Given the description of an element on the screen output the (x, y) to click on. 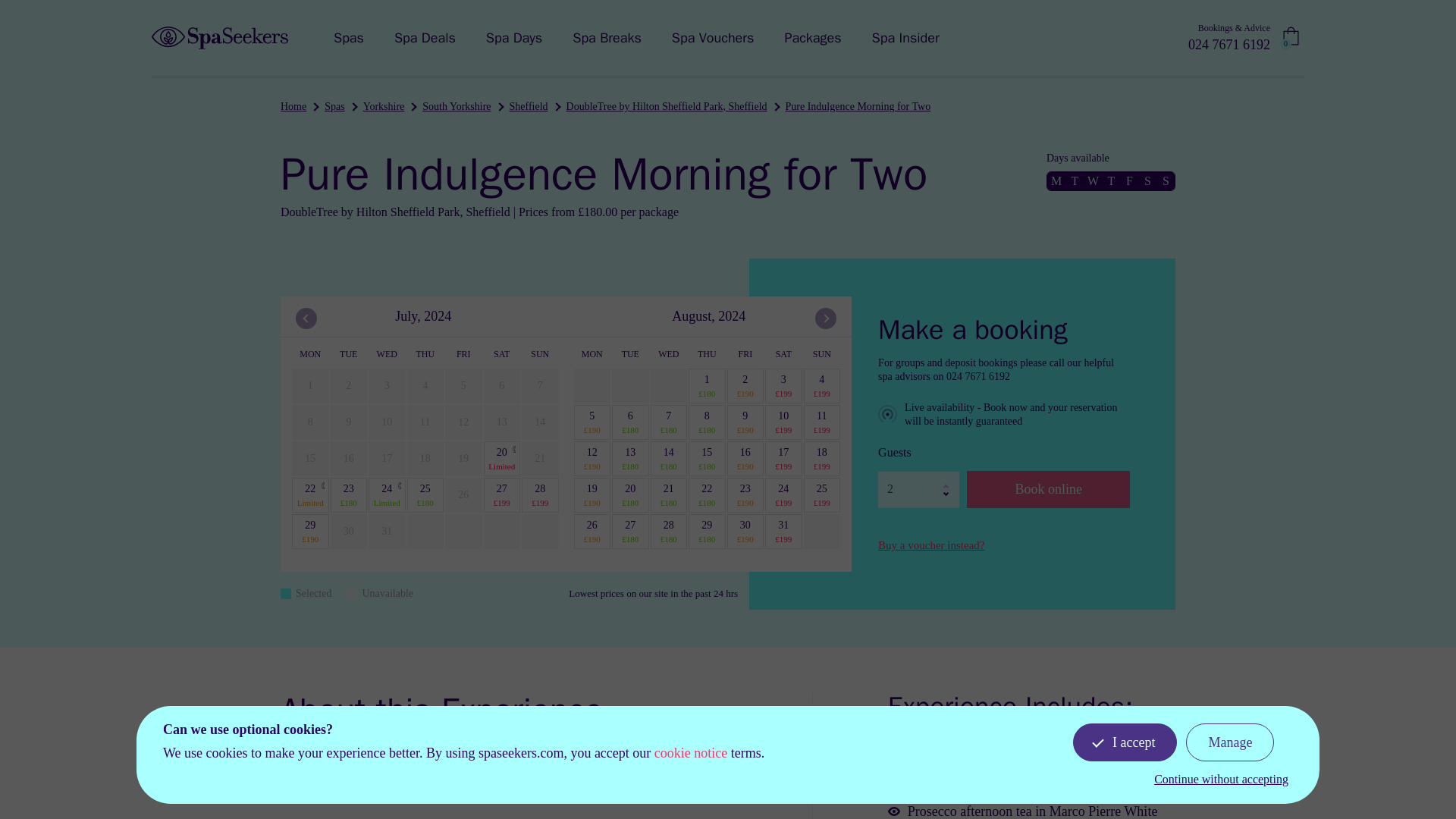
Spa Deals (424, 37)
Spas (348, 37)
024 7671 6192 (1228, 44)
